Given the description of an element on the screen output the (x, y) to click on. 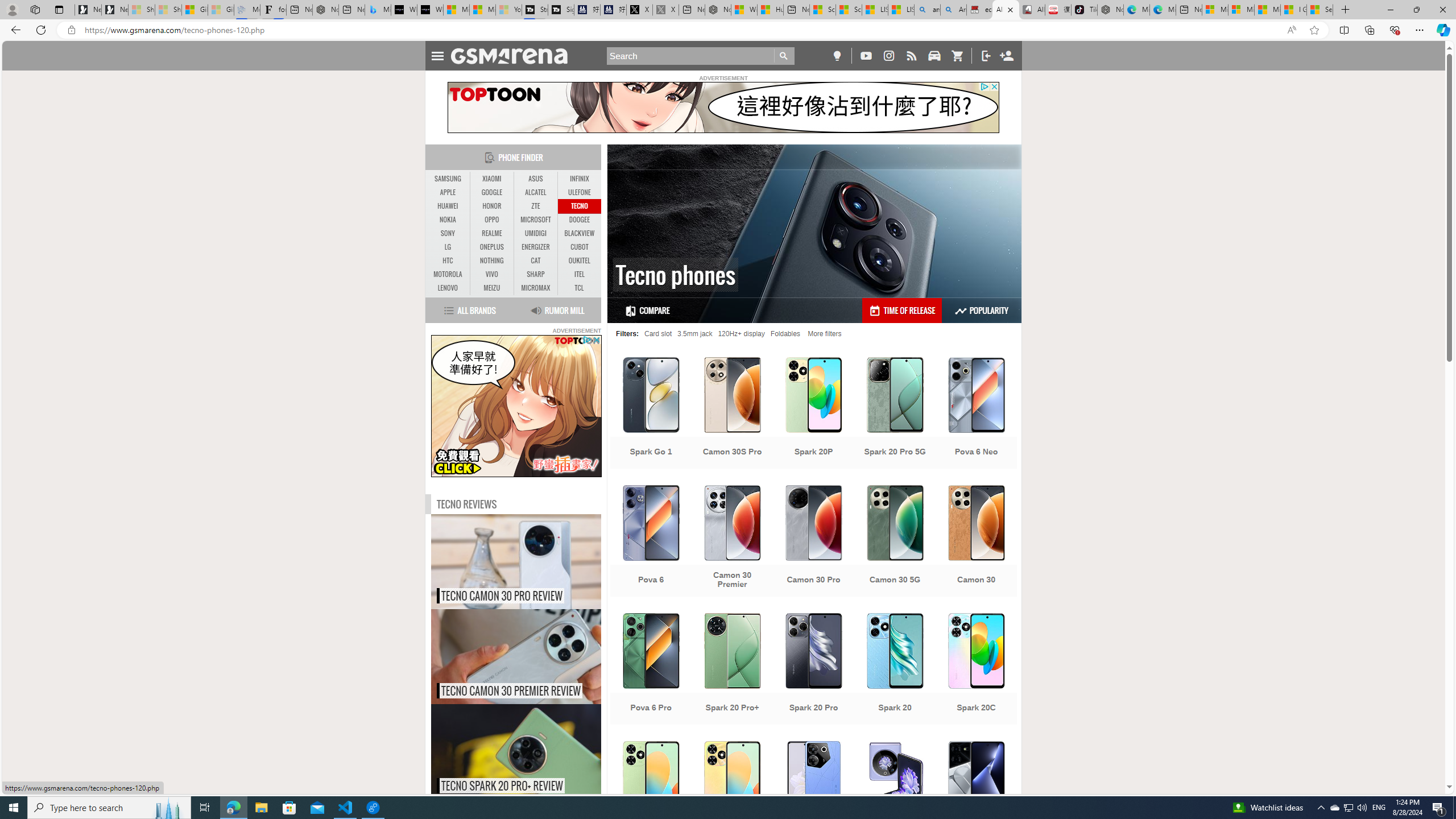
REALME (491, 233)
All Tecno phones (1005, 9)
Copilot (Ctrl+Shift+.) (1442, 29)
X (639, 9)
BLACKVIEW (579, 233)
UMIDIGI (535, 233)
Toggle Navigation (437, 53)
Tecno Spark 20 Pro+ review (539, 751)
Spark 20 Pro 5G (895, 413)
INFINIX (579, 178)
APPLE (448, 192)
